Given the description of an element on the screen output the (x, y) to click on. 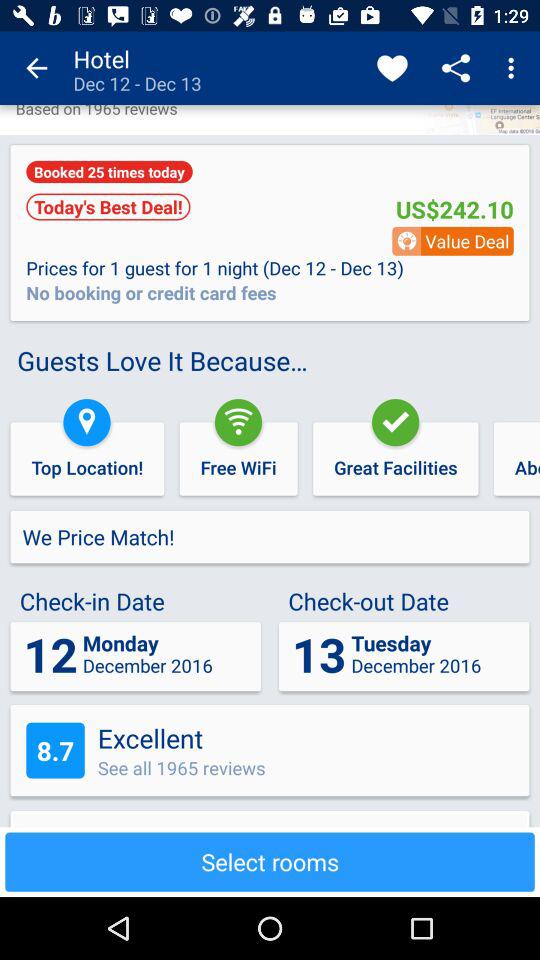
tap icon to the right of the hotel dec 12 app (392, 67)
